Given the description of an element on the screen output the (x, y) to click on. 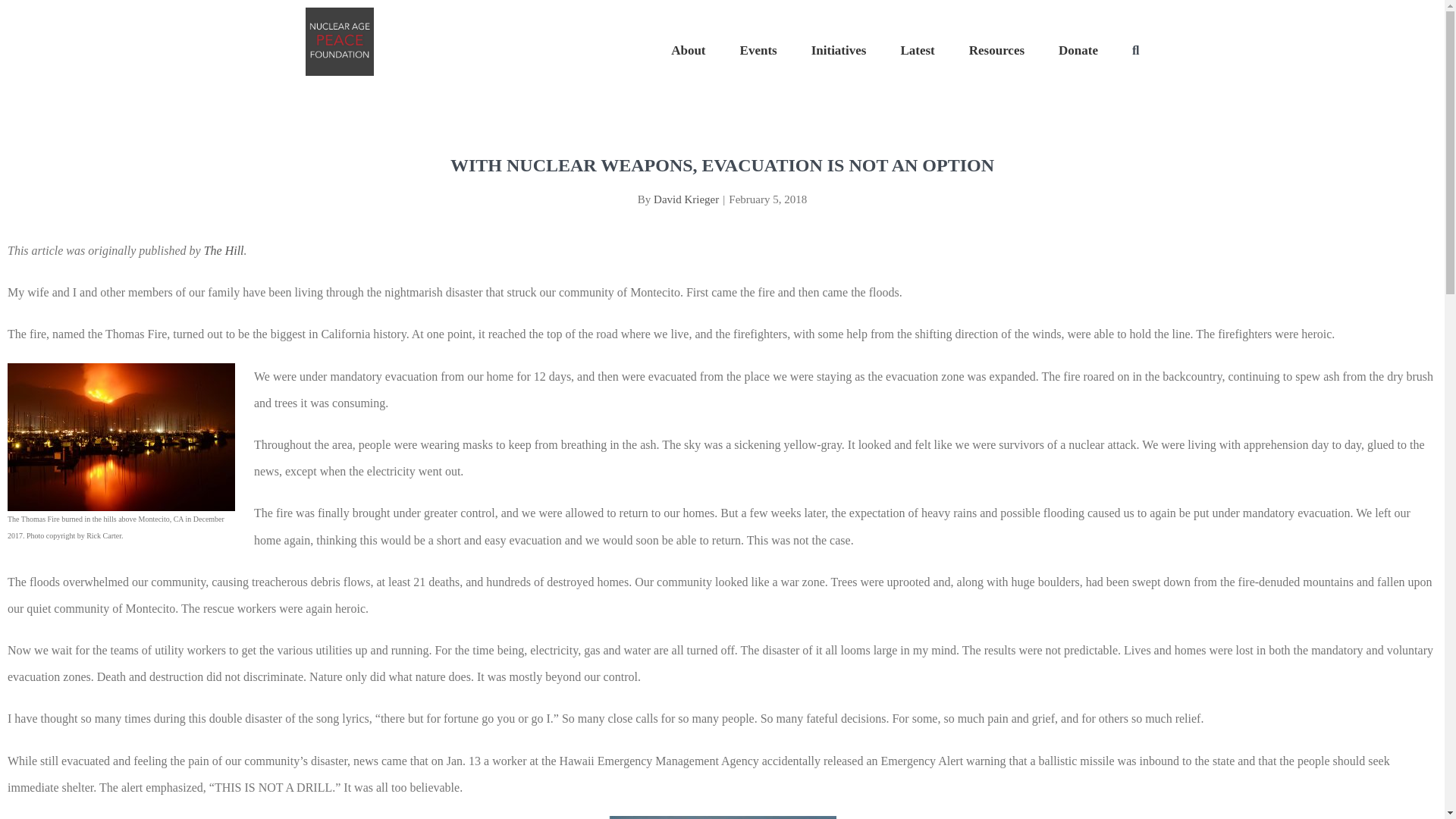
Posts by David Krieger (686, 199)
